Given the description of an element on the screen output the (x, y) to click on. 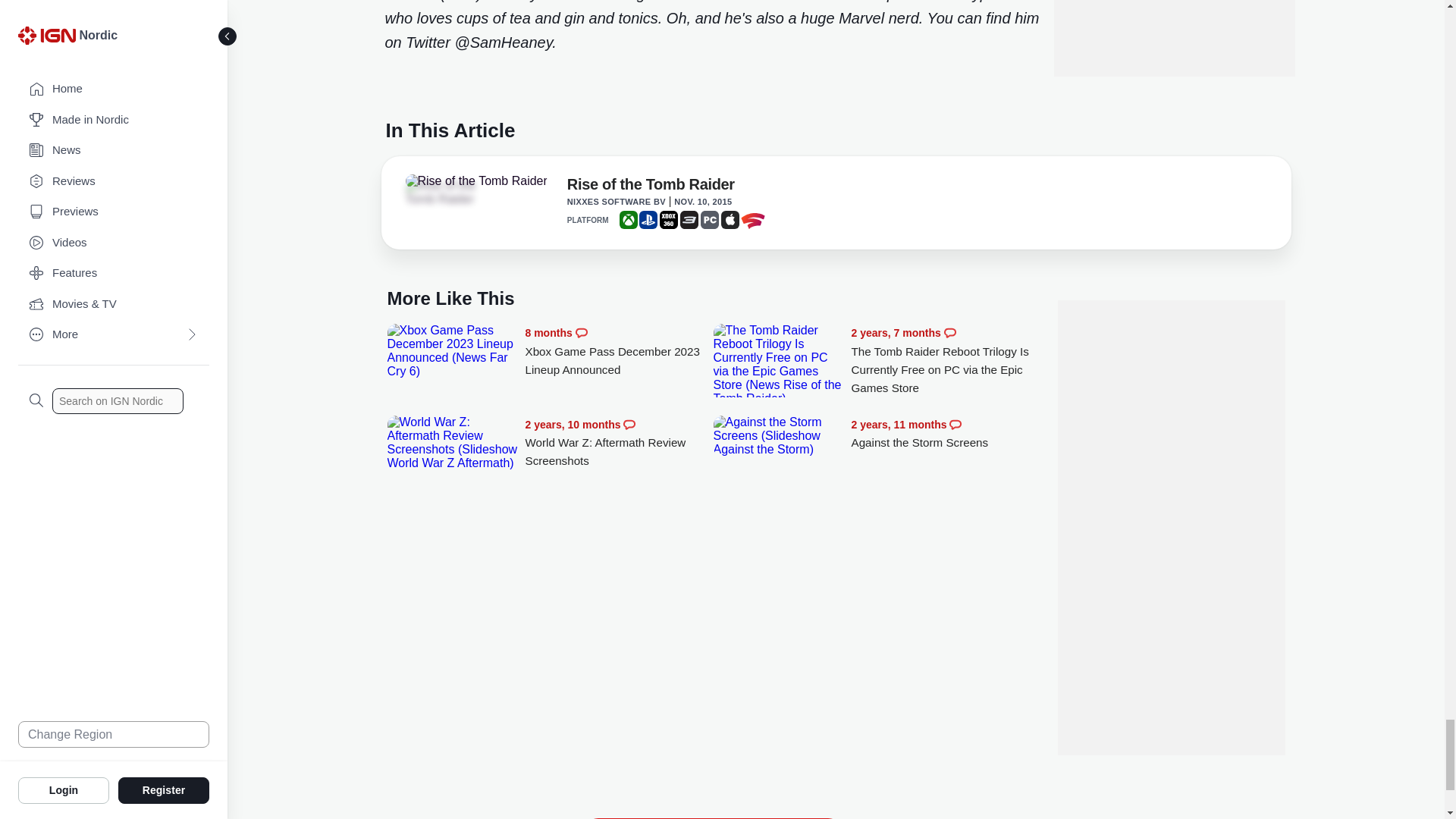
PS4 (648, 219)
World War Z: Aftermath Review Screenshots (451, 442)
Xbox Game Pass December 2023 Lineup Announced (451, 350)
Against the Storm Screens (944, 433)
Against the Storm Screens (778, 435)
PC (709, 219)
Xbox Game Pass December 2023 Lineup Announced (618, 351)
Rise of the Tomb Raider (475, 181)
XBOXONE (628, 219)
World War Z: Aftermath Review Screenshots (618, 442)
Rise of the Tomb Raider (651, 187)
PS3 (688, 219)
Rise of the Tomb Raider (448, 192)
